Given the description of an element on the screen output the (x, y) to click on. 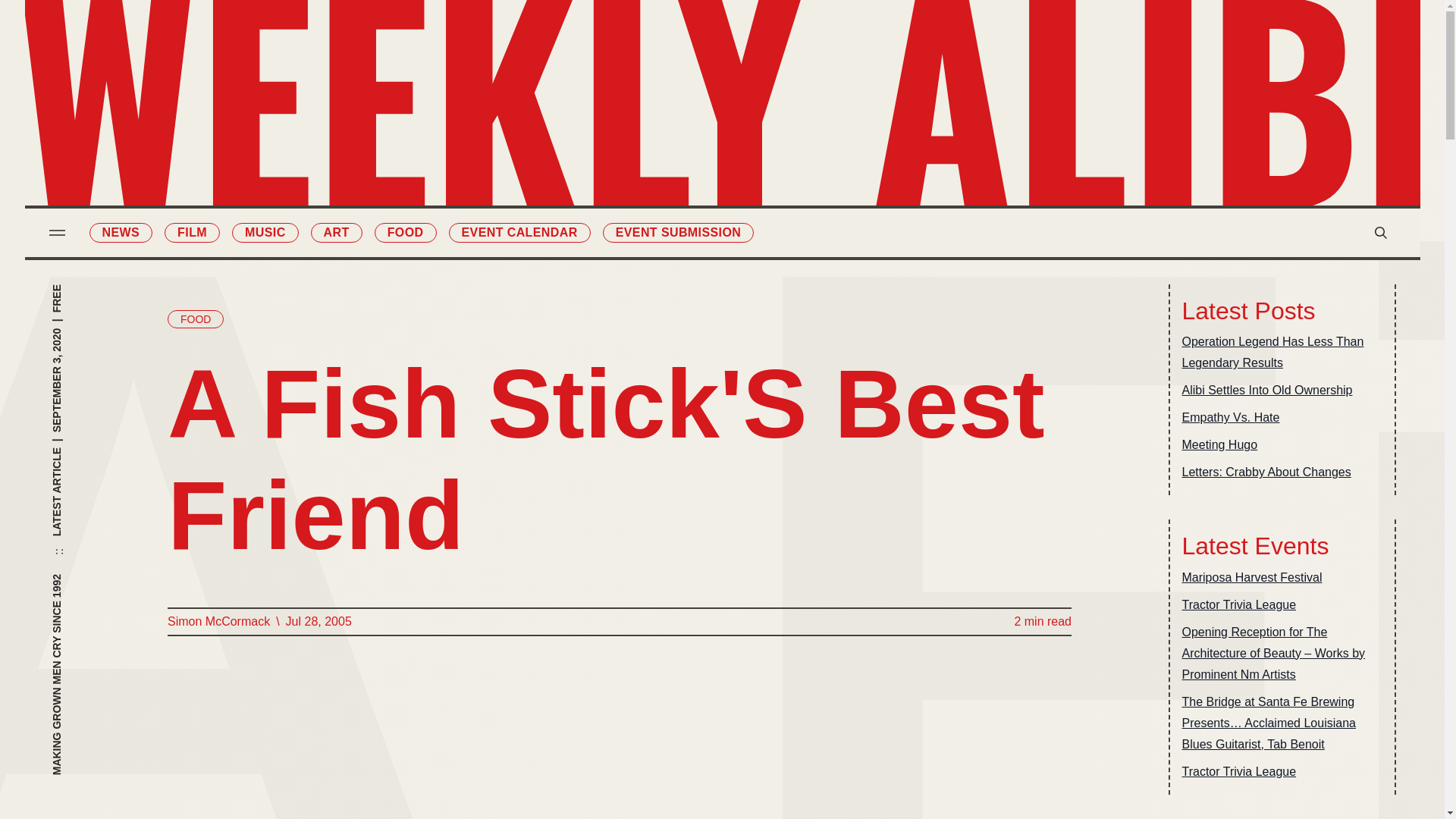
MUSIC (264, 232)
ART (336, 232)
FOOD (194, 319)
FOOD (405, 232)
EVENT CALENDAR (519, 232)
EVENT SUBMISSION (678, 232)
NEWS (120, 232)
FILM (191, 232)
Simon McCormack (218, 621)
